Given the description of an element on the screen output the (x, y) to click on. 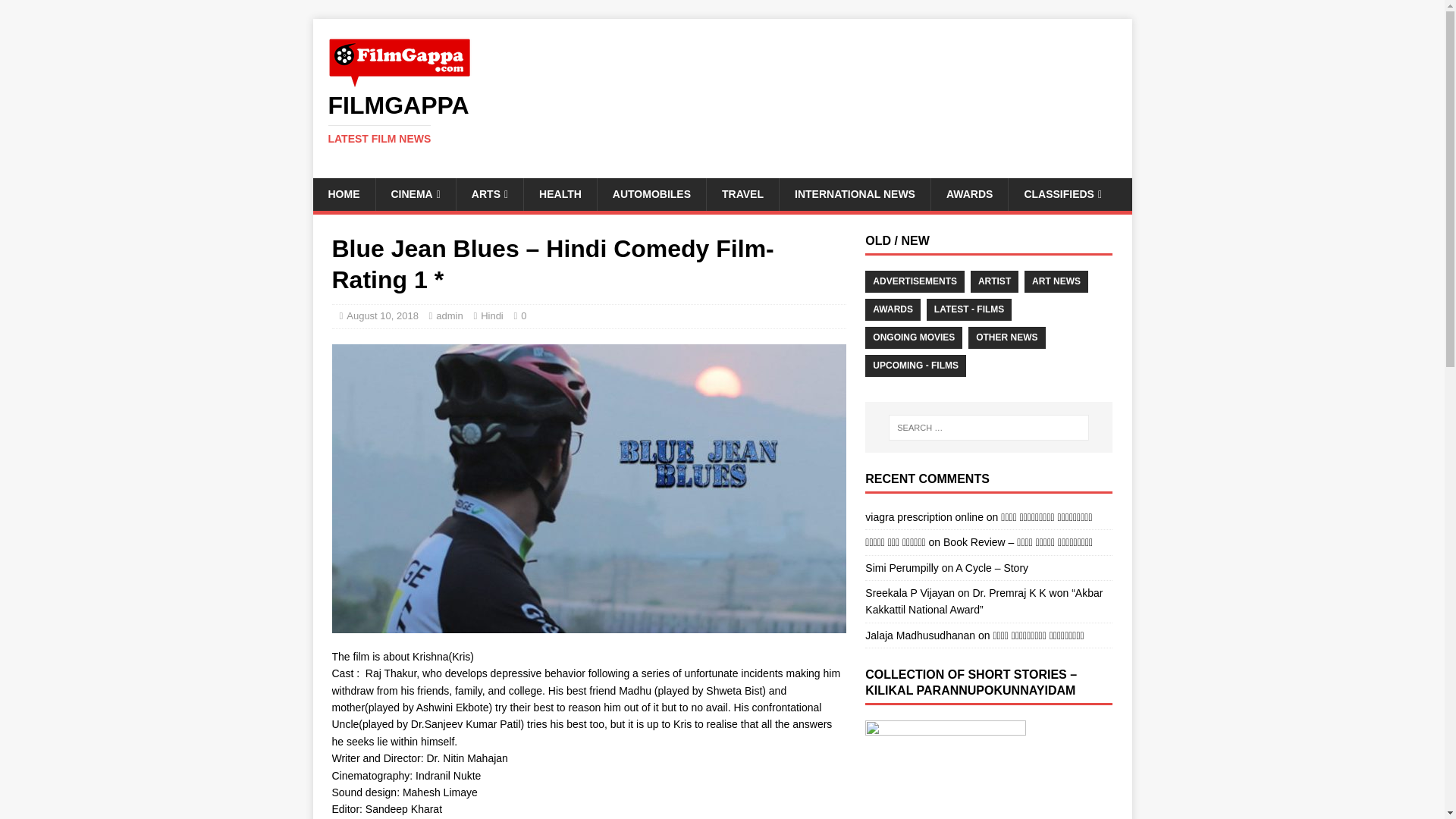
FilmGappa (721, 118)
CINEMA (721, 118)
HOME (414, 193)
blue jean (343, 193)
